Given the description of an element on the screen output the (x, y) to click on. 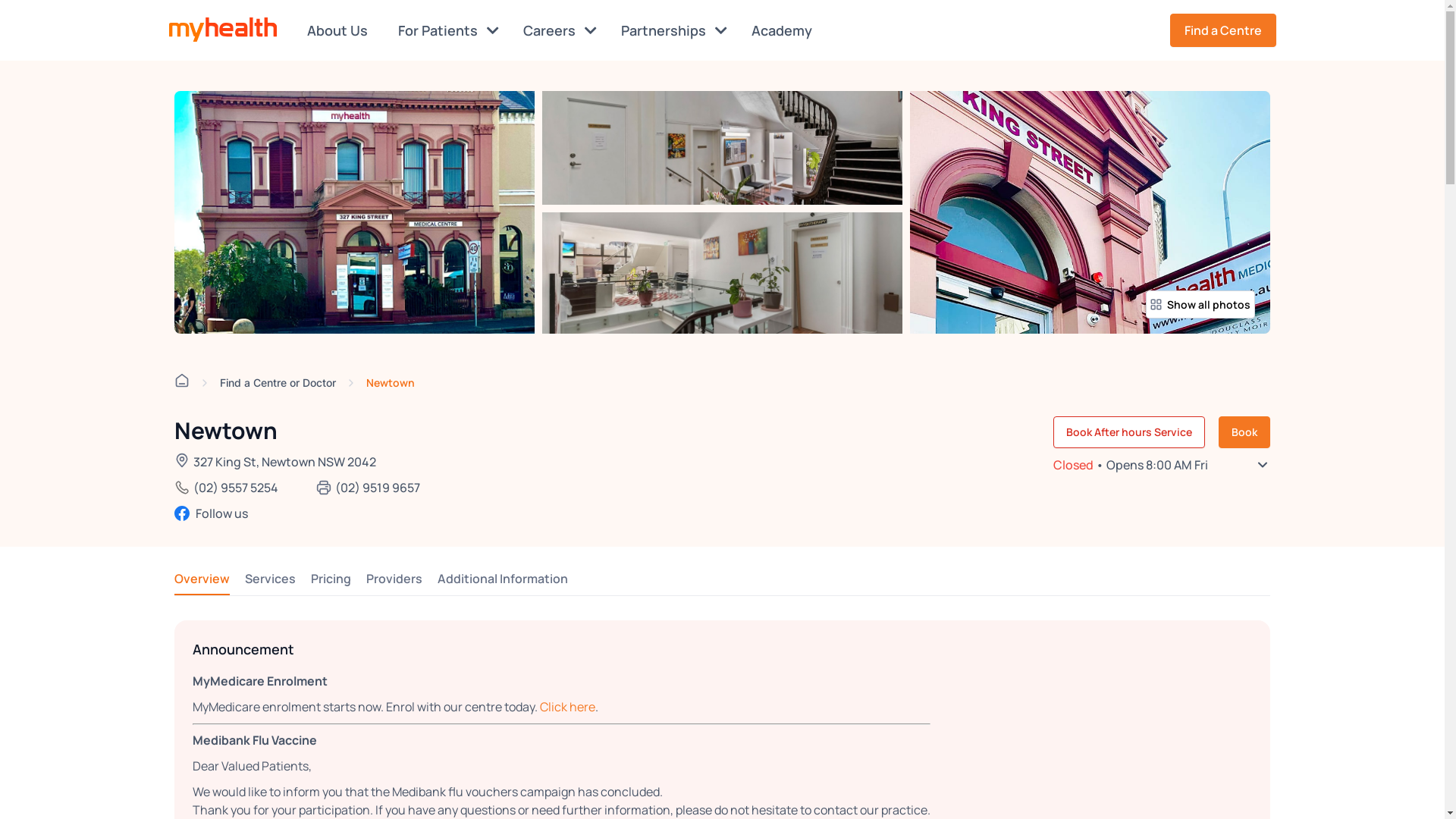
About Us Element type: text (339, 30)
Show all photos Element type: text (1200, 304)
(02) 9519 9657 Element type: text (377, 487)
327 King St, Newtown NSW 2042 Element type: text (284, 461)
Partnerships Element type: text (673, 30)
Additional Information Element type: text (502, 578)
For Patients Element type: text (447, 30)
Book Element type: text (1244, 432)
Find a Centre Element type: text (1222, 30)
(02) 9557 5254 Element type: text (235, 487)
Services Element type: text (269, 578)
Providers Element type: text (394, 578)
Academy Element type: text (783, 30)
Follow us Element type: text (297, 513)
Overview Element type: text (201, 578)
Pricing Element type: text (330, 578)
Book After hours Service Element type: text (1128, 432)
Find a Centre or Doctor Element type: text (277, 381)
Careers Element type: text (559, 30)
Click here Element type: text (567, 706)
